Given the description of an element on the screen output the (x, y) to click on. 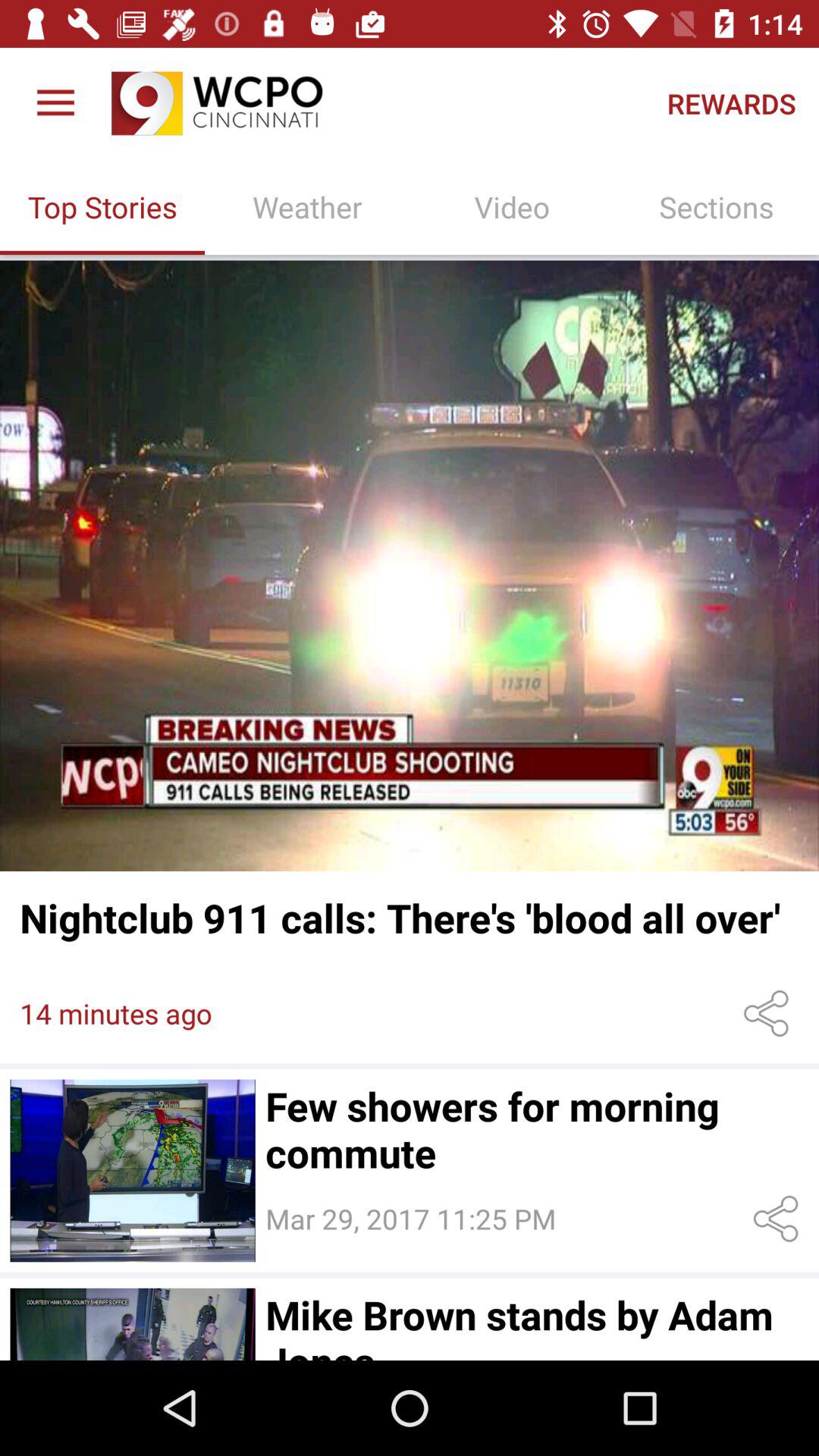
select this article (132, 1324)
